Given the description of an element on the screen output the (x, y) to click on. 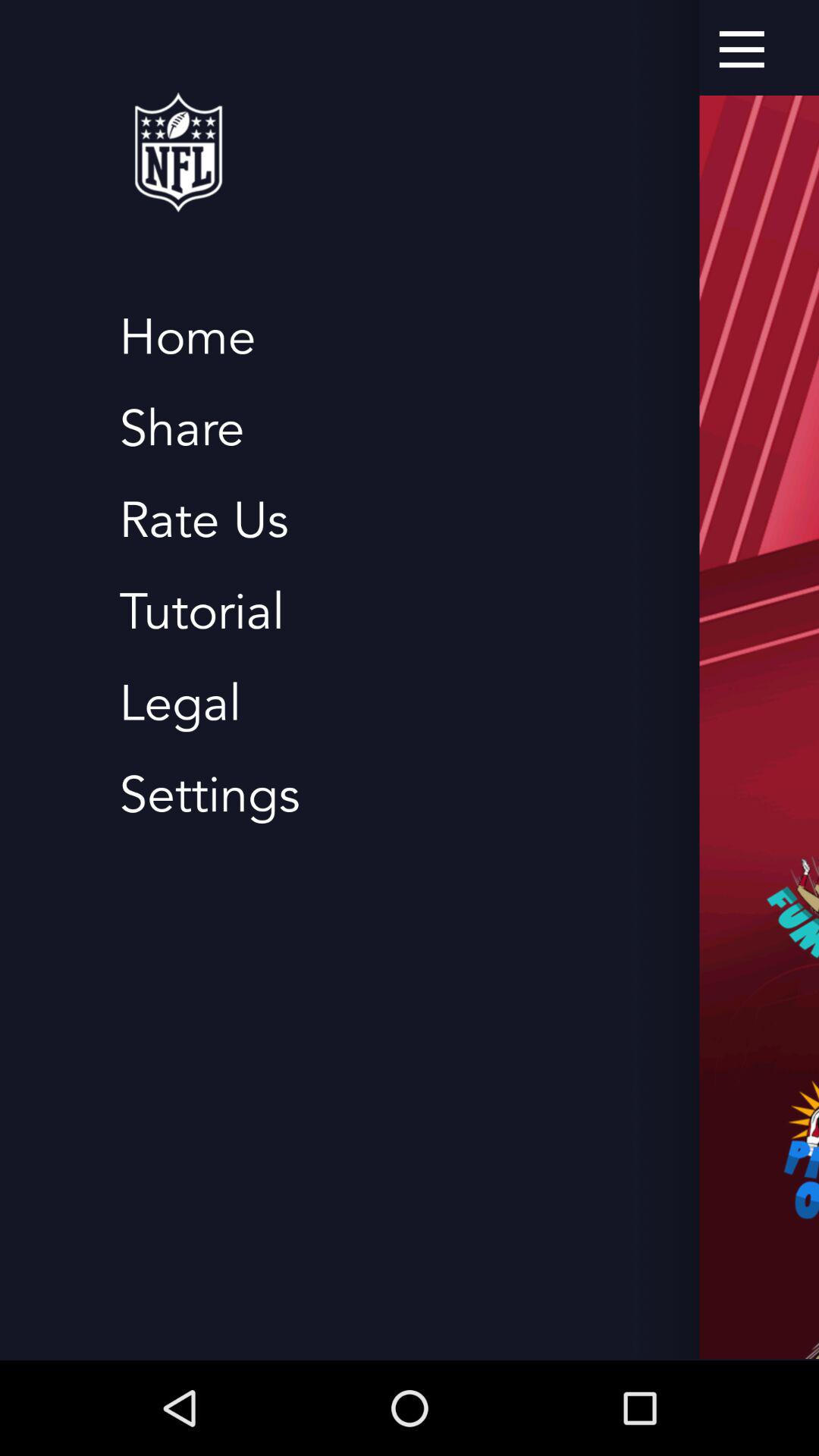
open the item above the tutorial item (203, 520)
